Given the description of an element on the screen output the (x, y) to click on. 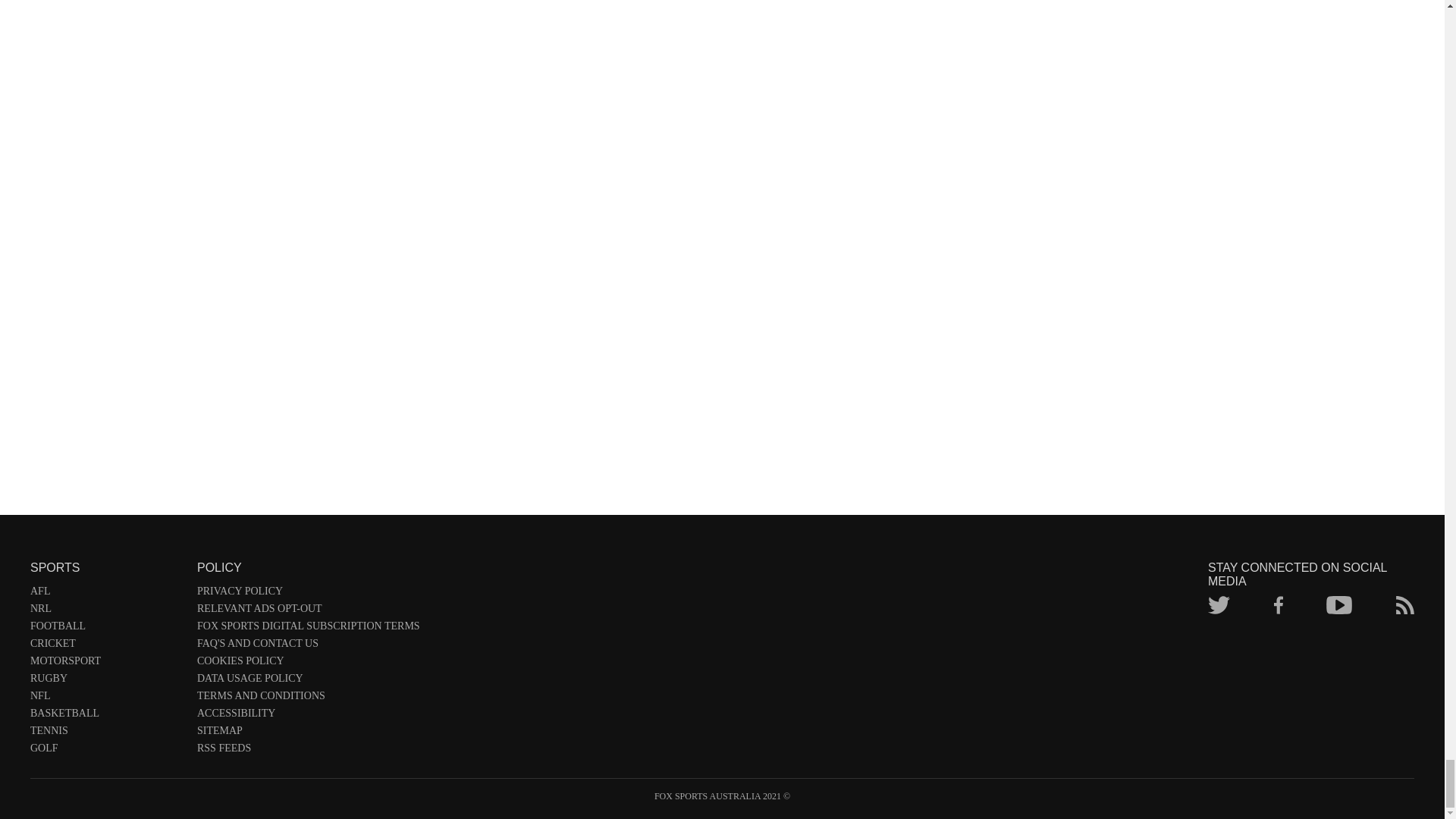
PRIVACY POLICY (308, 593)
COOKIES POLICY (308, 663)
MOTORSPORT (106, 663)
RUGBY (106, 681)
RSS FEEDS (308, 751)
FAQ'S AND CONTACT US (308, 646)
TERMS AND CONDITIONS (308, 698)
AFL (106, 593)
NRL (106, 610)
FOX SPORTS DIGITAL SUBSCRIPTION TERMS (308, 628)
